Given the description of an element on the screen output the (x, y) to click on. 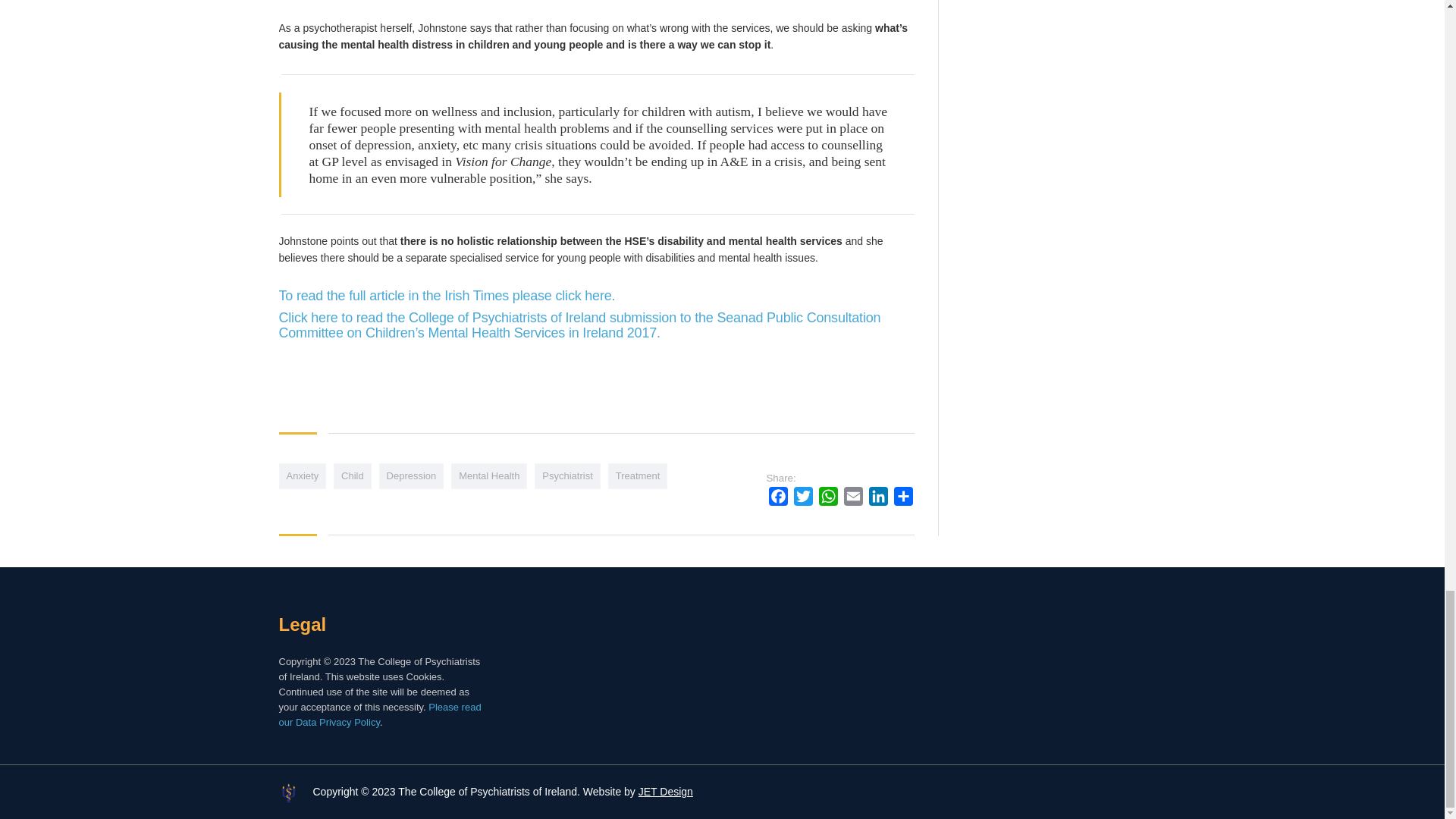
Email (853, 498)
Mental Health (489, 475)
WhatsApp (828, 498)
Twitter (802, 498)
Child (352, 475)
LinkedIn (878, 498)
Psychiatrist (566, 475)
Facebook (777, 498)
Twitter (802, 498)
Depression (411, 475)
Email (853, 498)
LinkedIn (878, 498)
Treatment (638, 475)
Anxiety (302, 475)
